Given the description of an element on the screen output the (x, y) to click on. 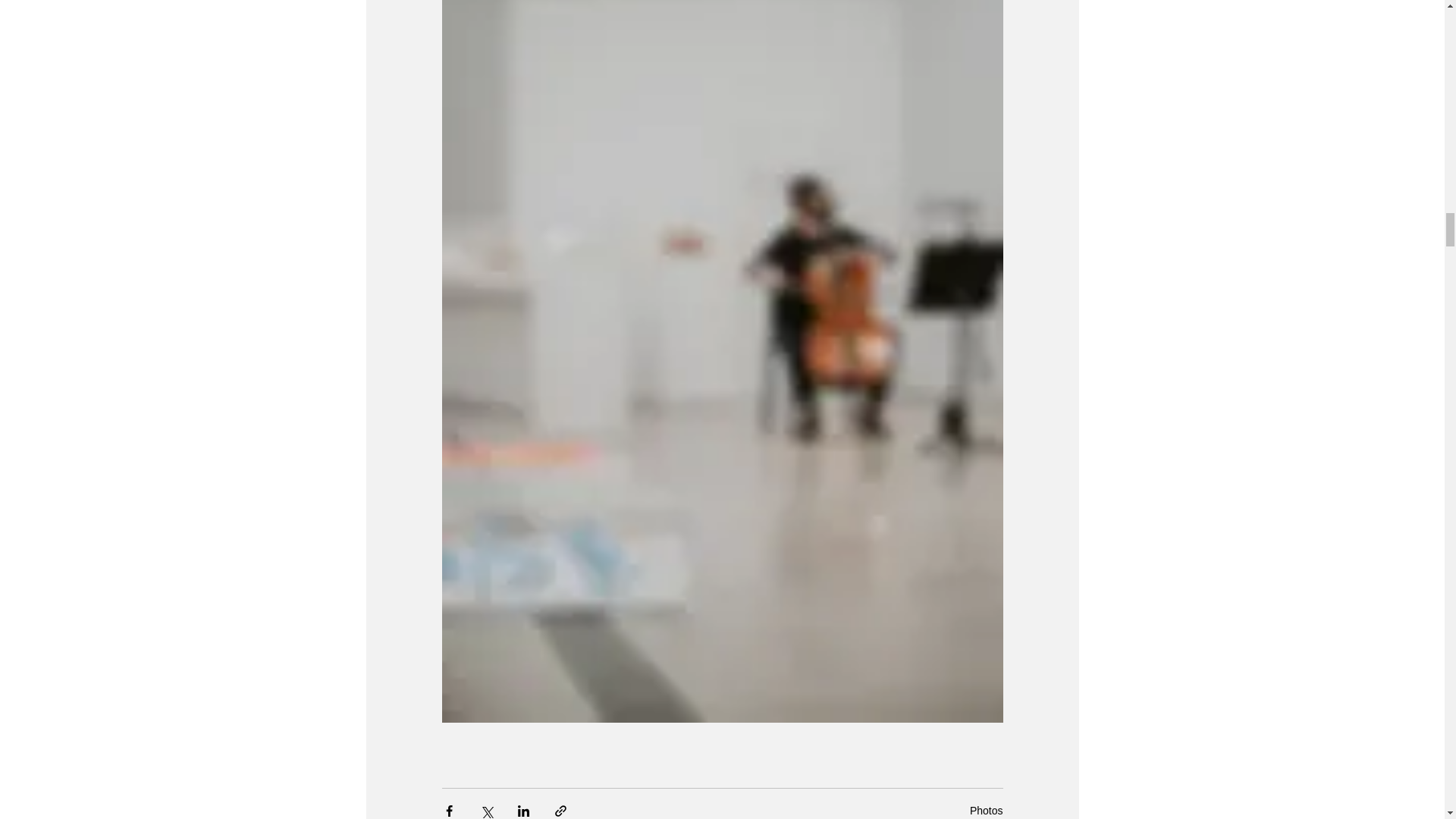
Photos (986, 810)
